Given the description of an element on the screen output the (x, y) to click on. 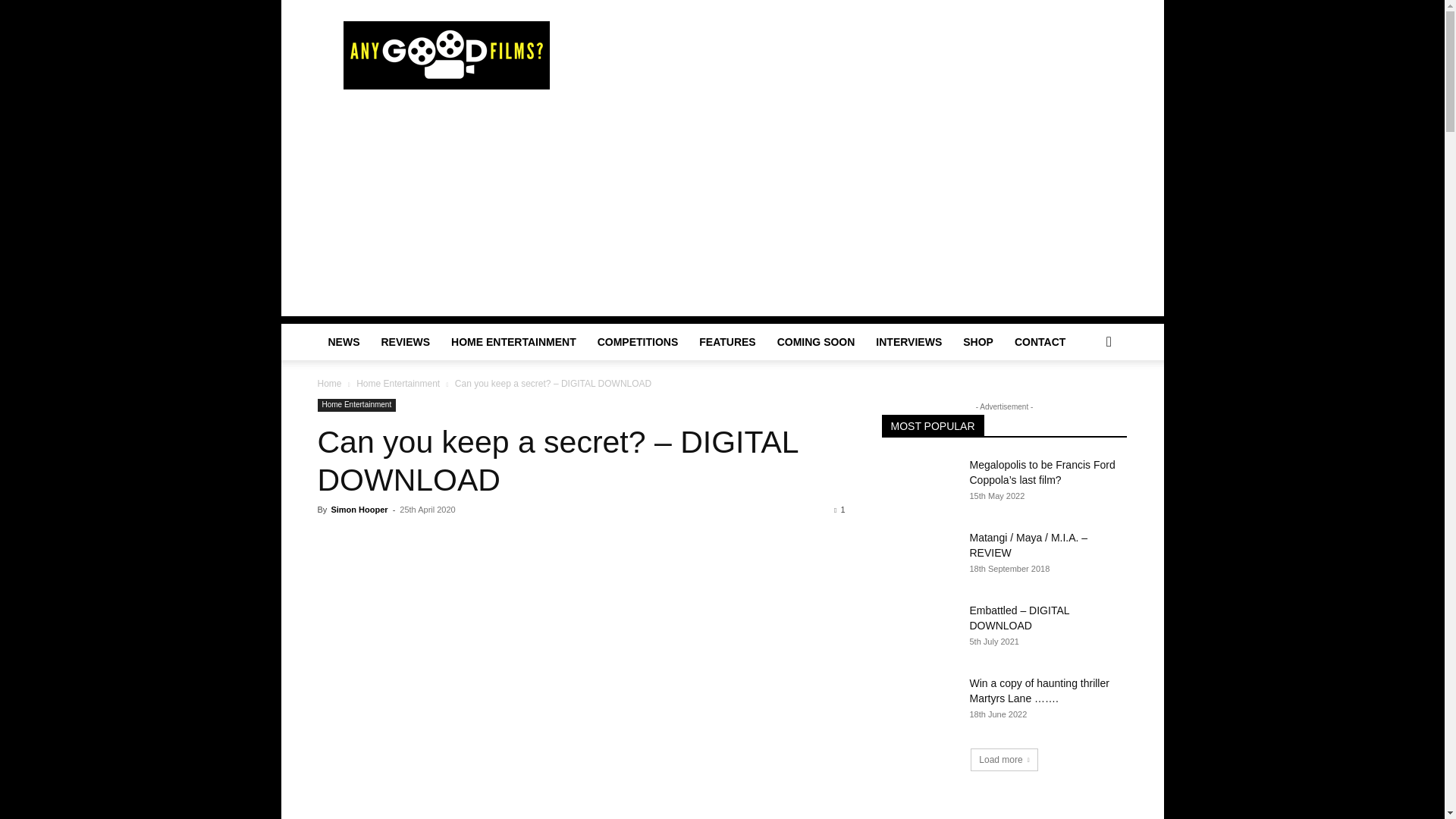
FEATURES (726, 341)
HOME ENTERTAINMENT (513, 341)
Search (1085, 402)
INTERVIEWS (908, 341)
CONTACT (1039, 341)
NEWS (343, 341)
Simon Hooper (358, 509)
SHOP (978, 341)
REVIEWS (405, 341)
Home (328, 383)
